Given the description of an element on the screen output the (x, y) to click on. 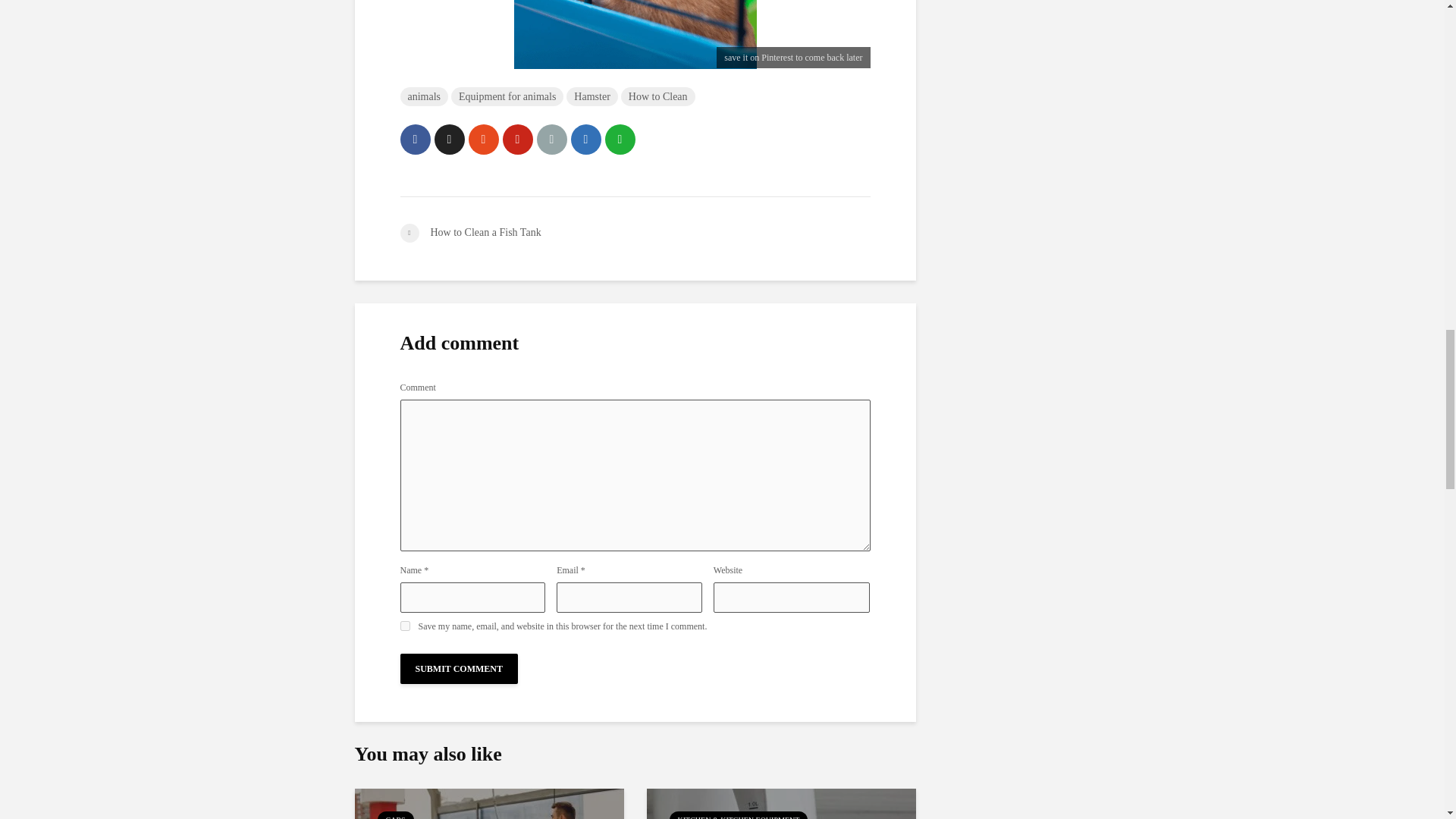
yes (405, 625)
Submit Comment (459, 668)
How to Clean (658, 96)
Equipment for animals (507, 96)
animals (424, 96)
Hamster (591, 96)
